Given the description of an element on the screen output the (x, y) to click on. 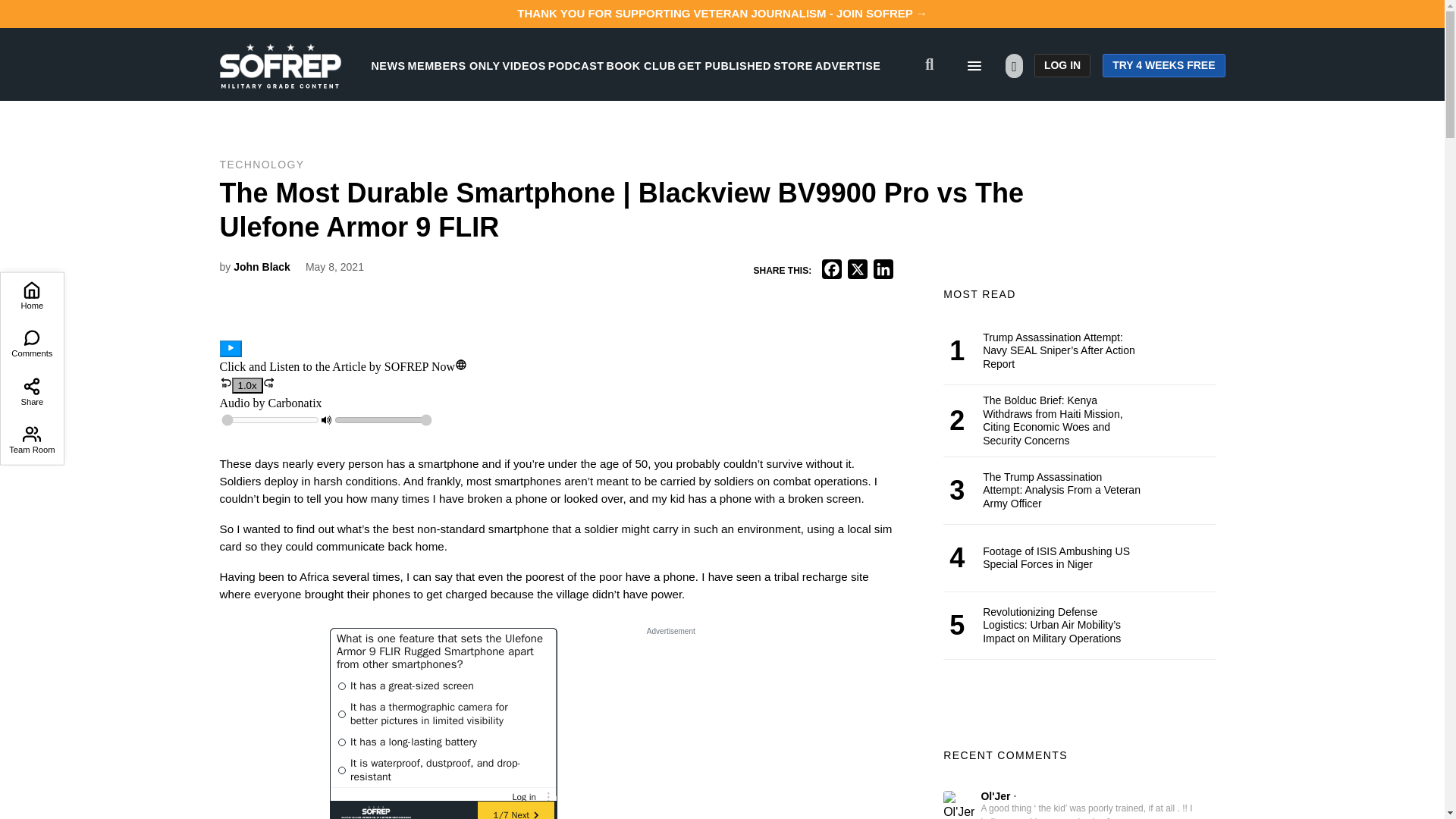
BOOK CLUB (641, 65)
VIDEOS (524, 65)
Vuukle Quiz Widget (443, 723)
LOG IN (1061, 65)
PODCAST (576, 65)
3rd party ad content (670, 729)
TRY 4 WEEKS FREE (1163, 65)
NEWS (388, 65)
MEMBERS ONLY (453, 65)
STORE (792, 65)
ADVERTISE (847, 65)
GET PUBLISHED (724, 65)
